Given the description of an element on the screen output the (x, y) to click on. 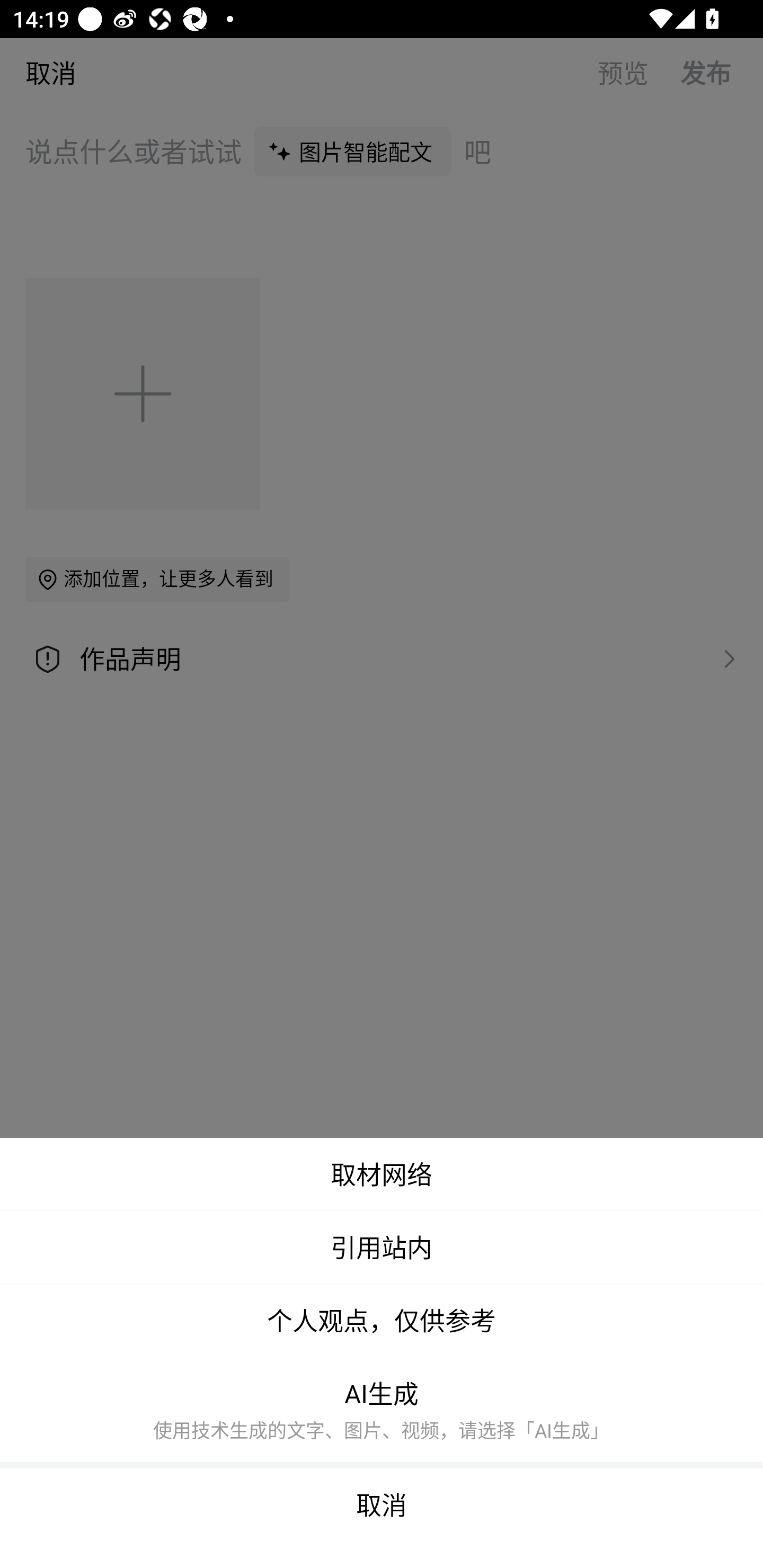
取材网络 (381, 1174)
引用站内 (381, 1247)
个人观点，仅供参考 (381, 1320)
AI生成 使用技术生成的文字、图片、视频，请选择「AI生成」 (381, 1412)
取消 (381, 1517)
